Given the description of an element on the screen output the (x, y) to click on. 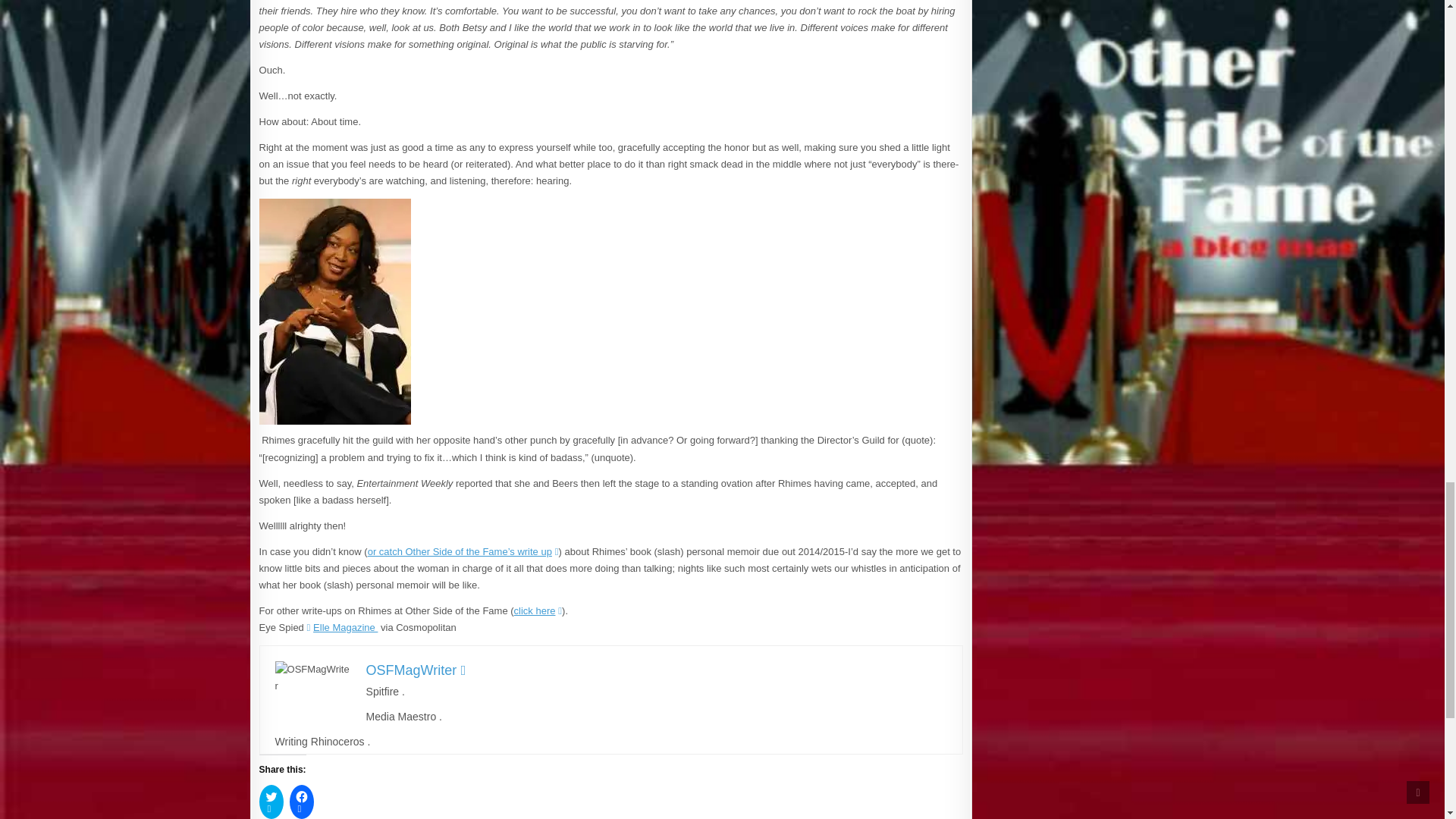
OSFMagWriter (415, 670)
click here (537, 610)
Elle Magazine (341, 627)
